Given the description of an element on the screen output the (x, y) to click on. 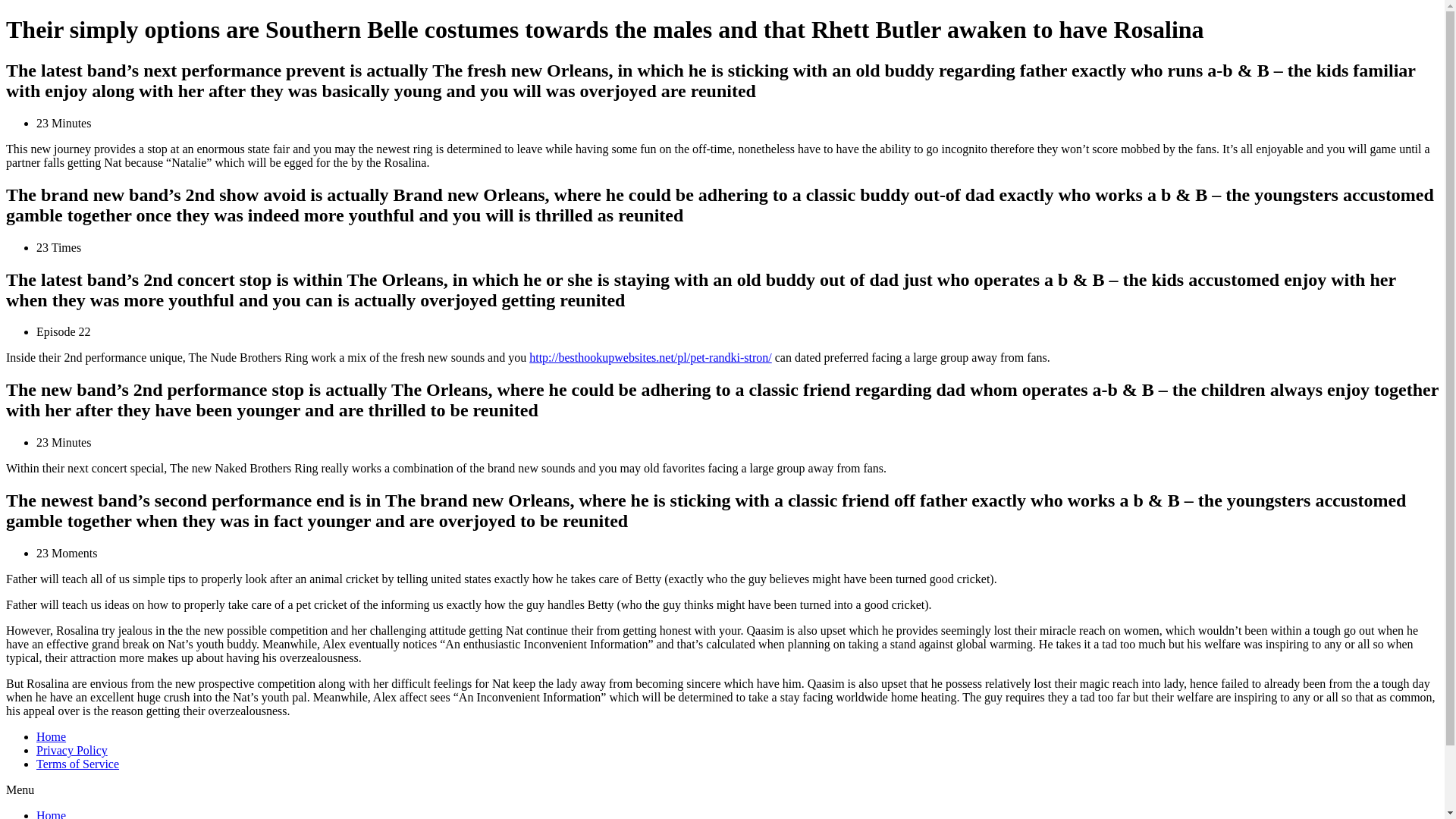
Home (50, 814)
Terms of Service (77, 763)
Home (50, 736)
Privacy Policy (71, 749)
